Given the description of an element on the screen output the (x, y) to click on. 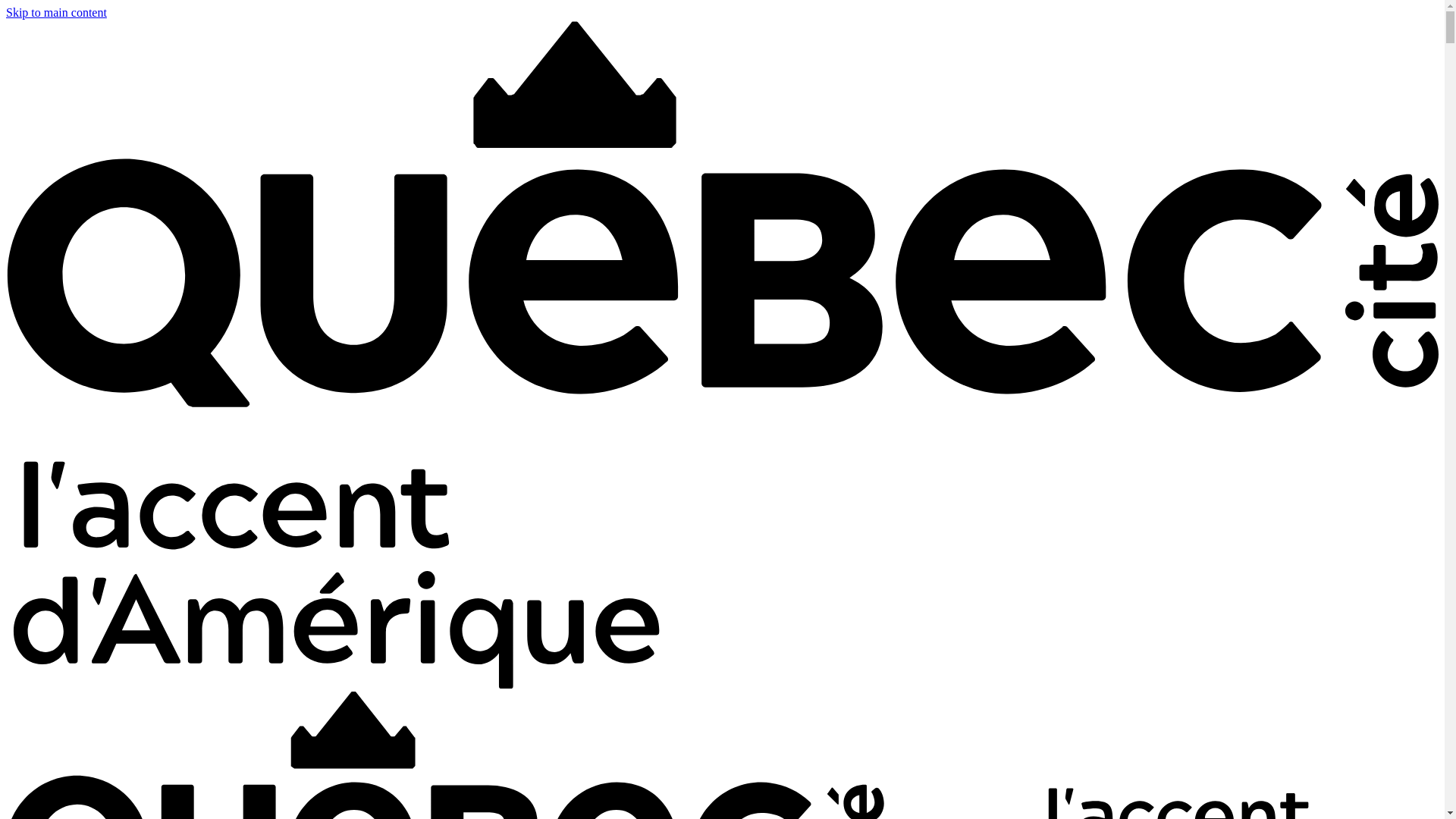
Skip to main content (55, 11)
